Given the description of an element on the screen output the (x, y) to click on. 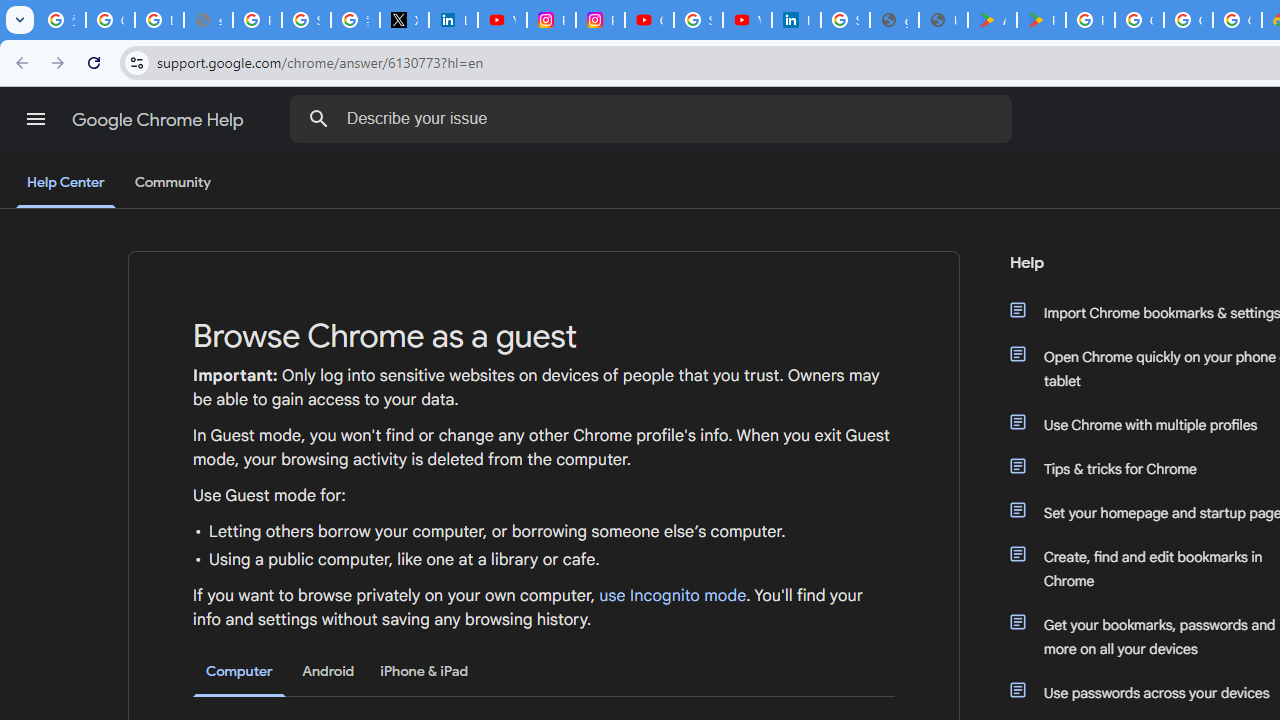
Sign in - Google Accounts (698, 20)
User Details (943, 20)
Privacy Help Center - Policies Help (257, 20)
Android (328, 671)
